Given the description of an element on the screen output the (x, y) to click on. 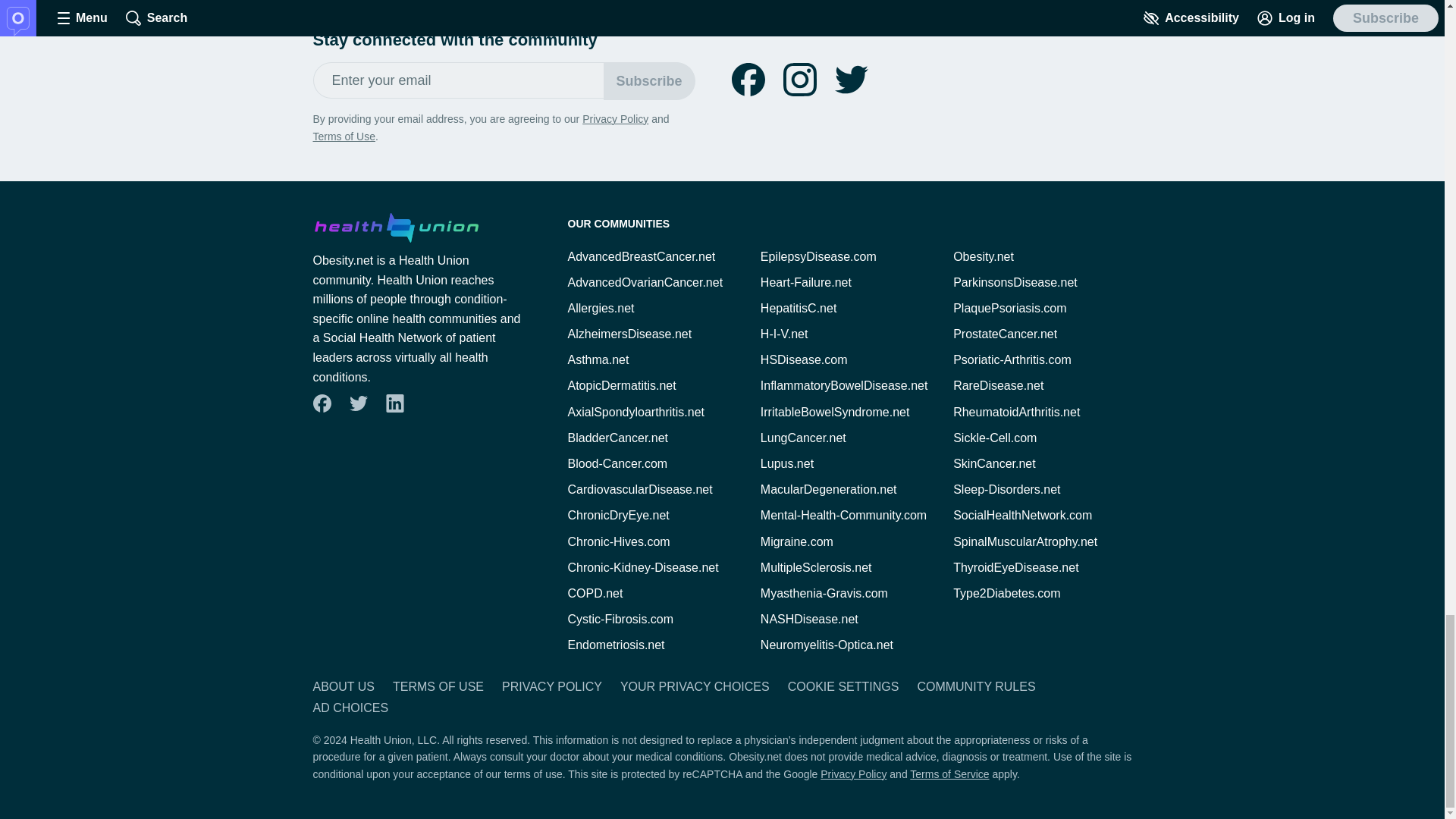
Privacy Policy (614, 119)
Follow us on twitter (850, 79)
Follow us on facebook (747, 79)
Follow us on twitter (357, 402)
Subscribe (649, 80)
Follow us on instagram (799, 79)
Follow us on facebook (747, 79)
Follow us on instagram (799, 79)
Follow us on twitter (850, 79)
Follow us on facebook (321, 402)
